Given the description of an element on the screen output the (x, y) to click on. 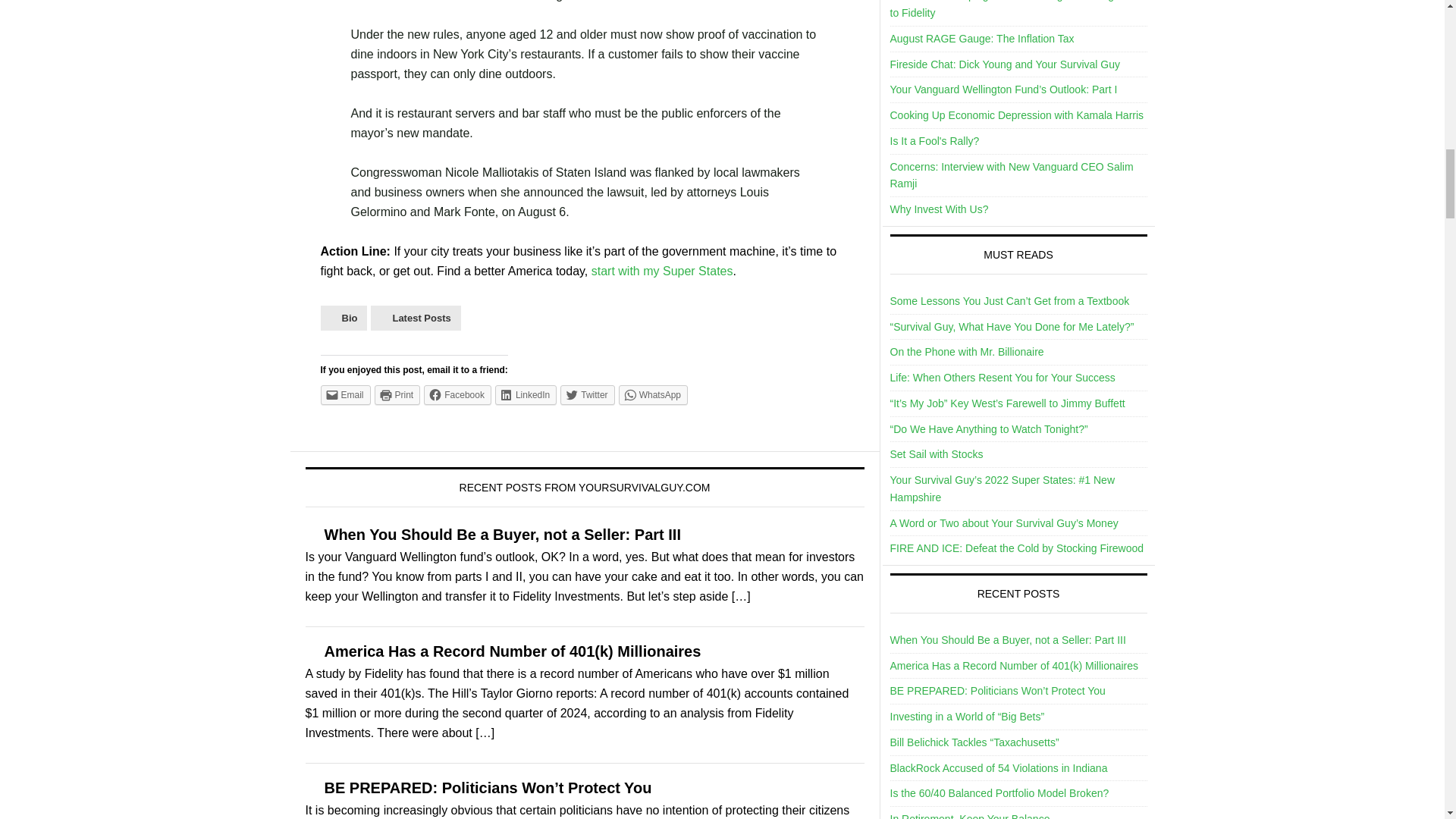
Click to share on Facebook (457, 394)
Click to share on WhatsApp (652, 394)
Click to share on Twitter (587, 394)
Click to share on LinkedIn (525, 394)
Click to email this to a friend (344, 394)
Click to print (397, 394)
